Given the description of an element on the screen output the (x, y) to click on. 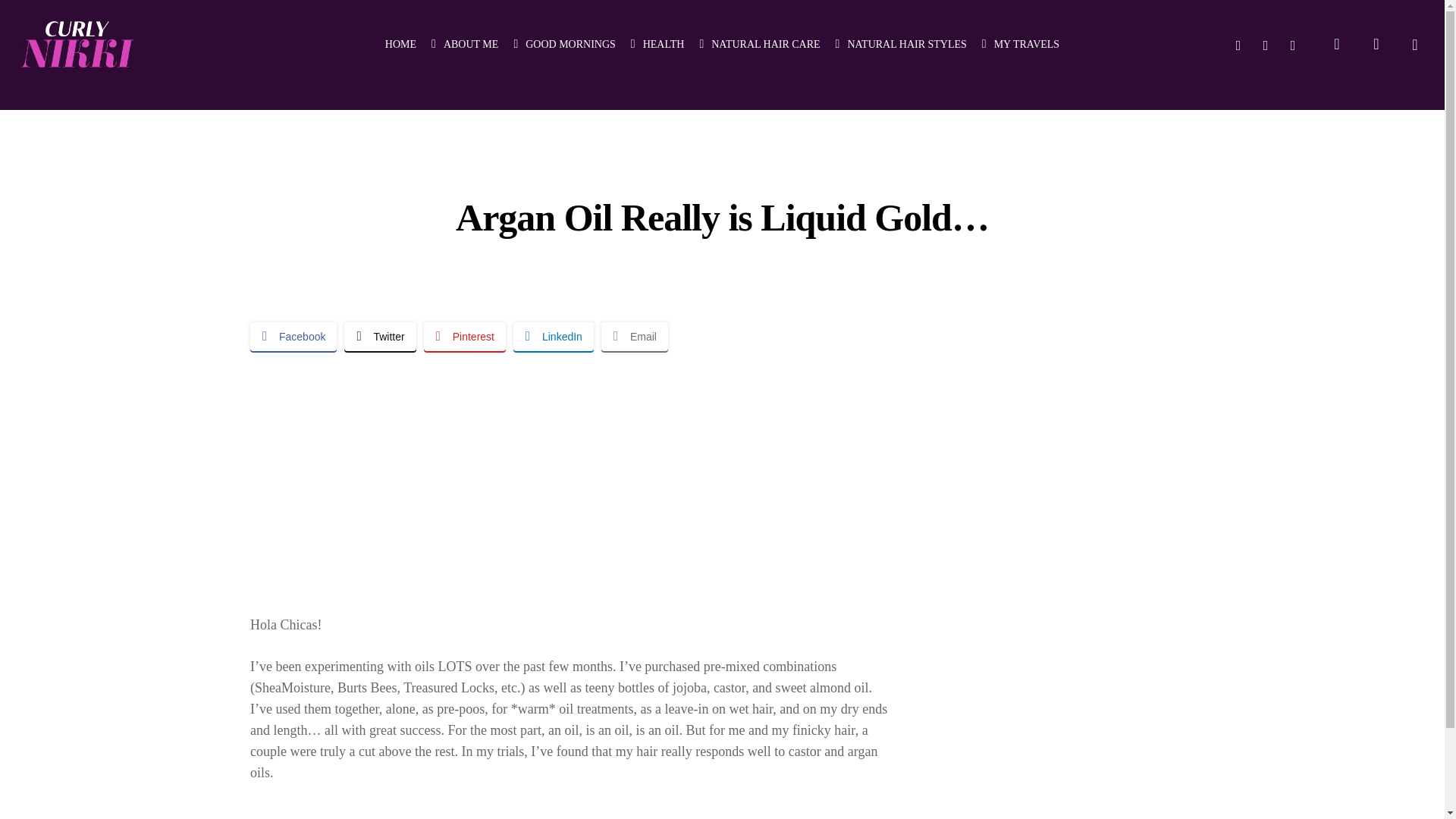
ABOUT ME (463, 44)
NATURAL HAIR STYLES (900, 44)
GOOD MORNINGS (563, 44)
HOME (400, 44)
HEALTH (657, 44)
Argan Oil Really is Liquid Gold... (573, 472)
NATURAL HAIR CARE (758, 44)
